Given the description of an element on the screen output the (x, y) to click on. 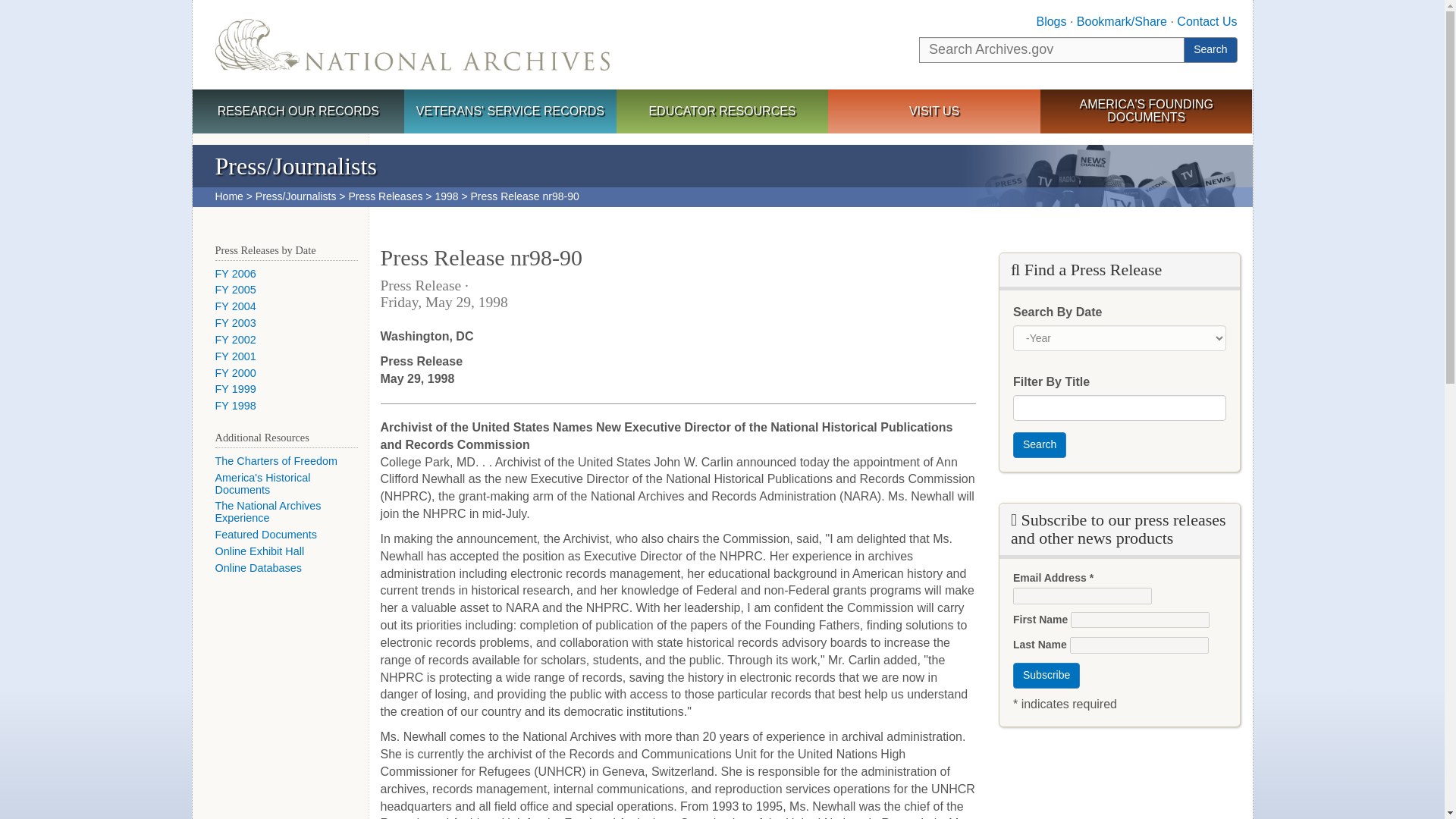
Search (1039, 444)
1998 (445, 196)
America's Historical Documents (263, 483)
VISIT US (934, 111)
FY 2002 (235, 339)
Featured Documents (266, 534)
Contact Us (1206, 21)
Online Exhibit Hall (259, 551)
The U.S. National Archives Home (412, 44)
Blogs (1050, 21)
Search Archives.gov (1051, 49)
FY 2005 (235, 289)
VETERANS' SERVICE RECORDS (509, 111)
